Given the description of an element on the screen output the (x, y) to click on. 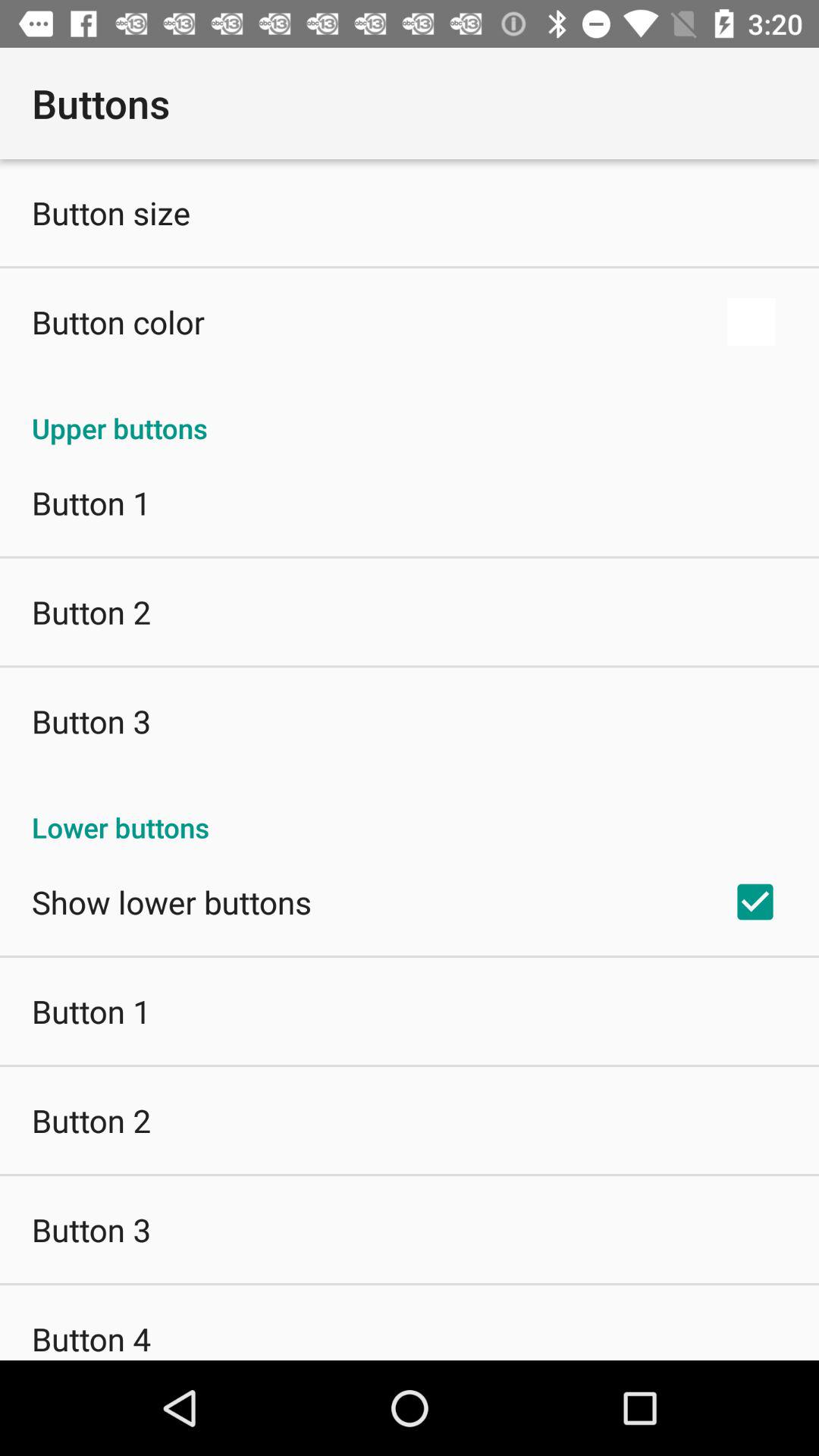
launch button color app (117, 321)
